Given the description of an element on the screen output the (x, y) to click on. 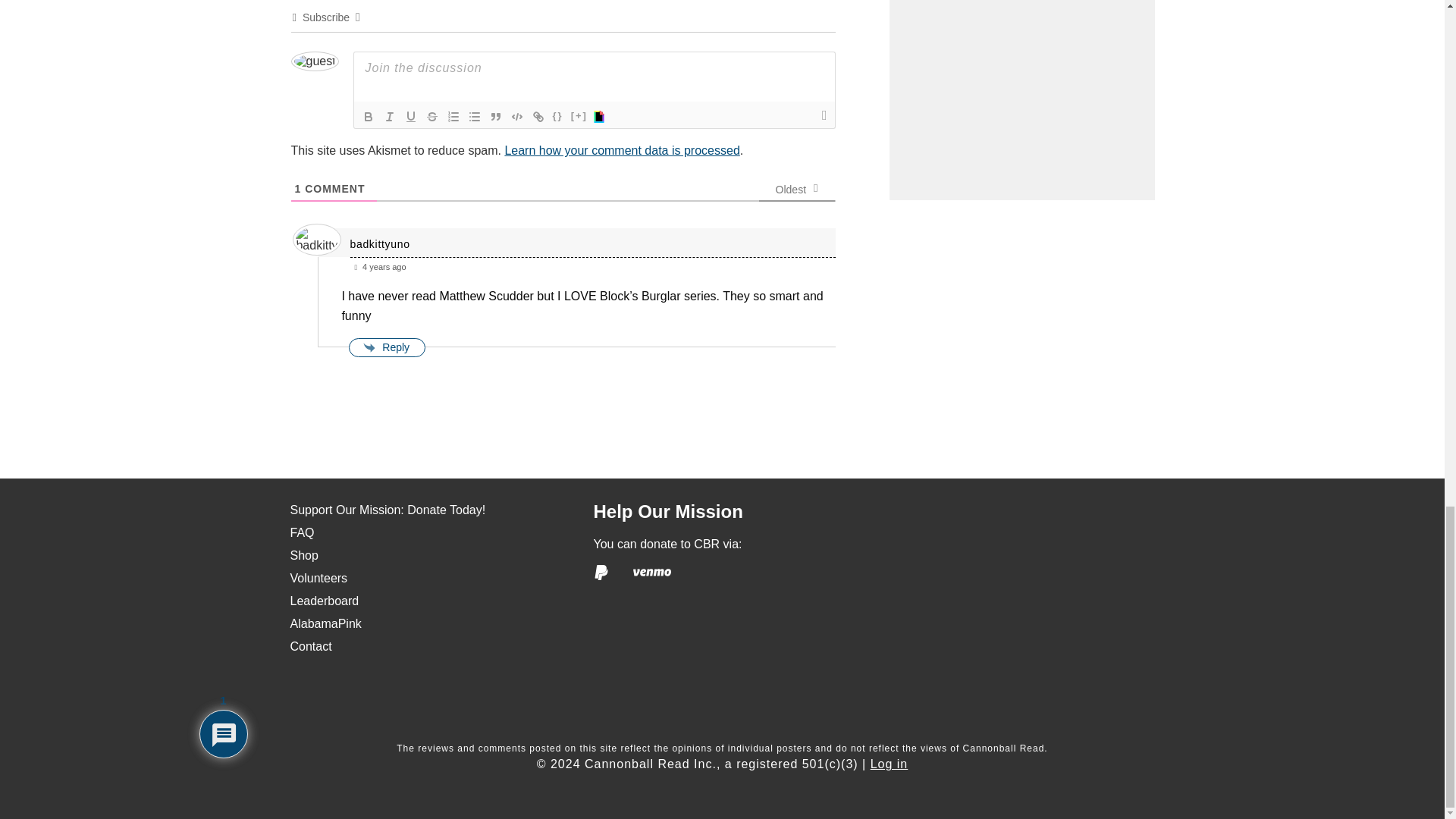
Venmo (652, 572)
PayPal (600, 572)
